Given the description of an element on the screen output the (x, y) to click on. 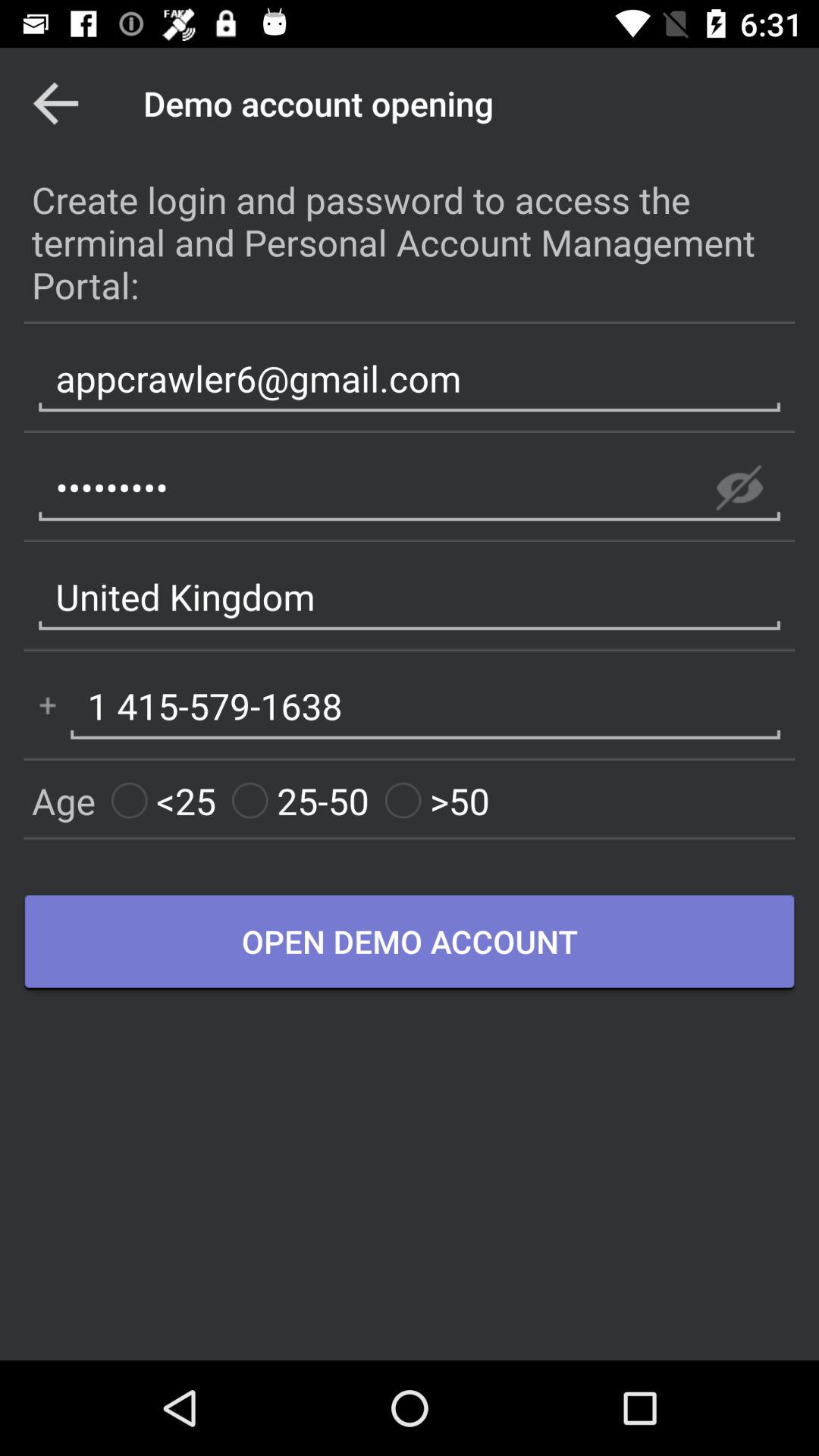
go to previous (55, 103)
